Given the description of an element on the screen output the (x, y) to click on. 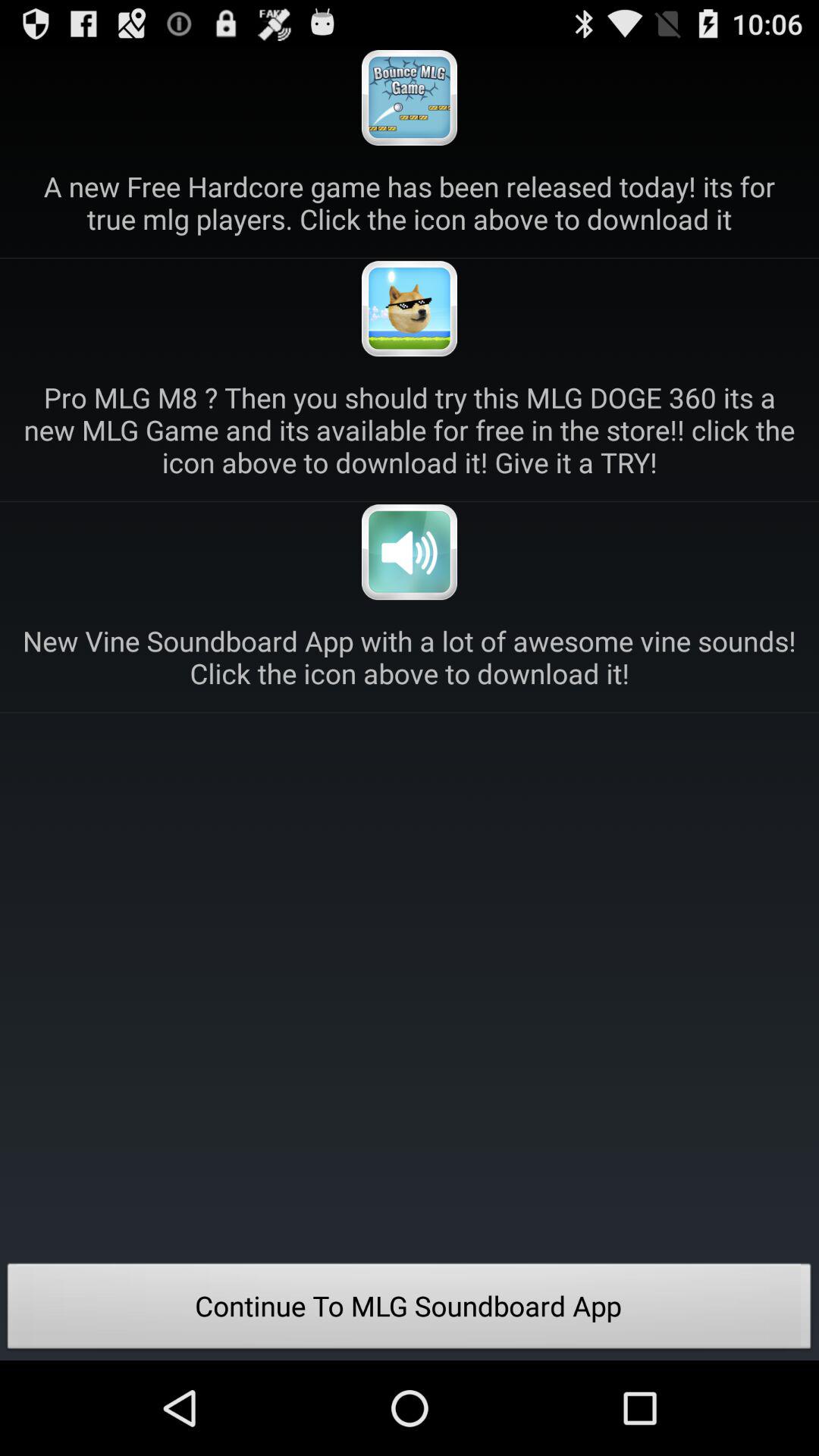
download game (409, 308)
